Given the description of an element on the screen output the (x, y) to click on. 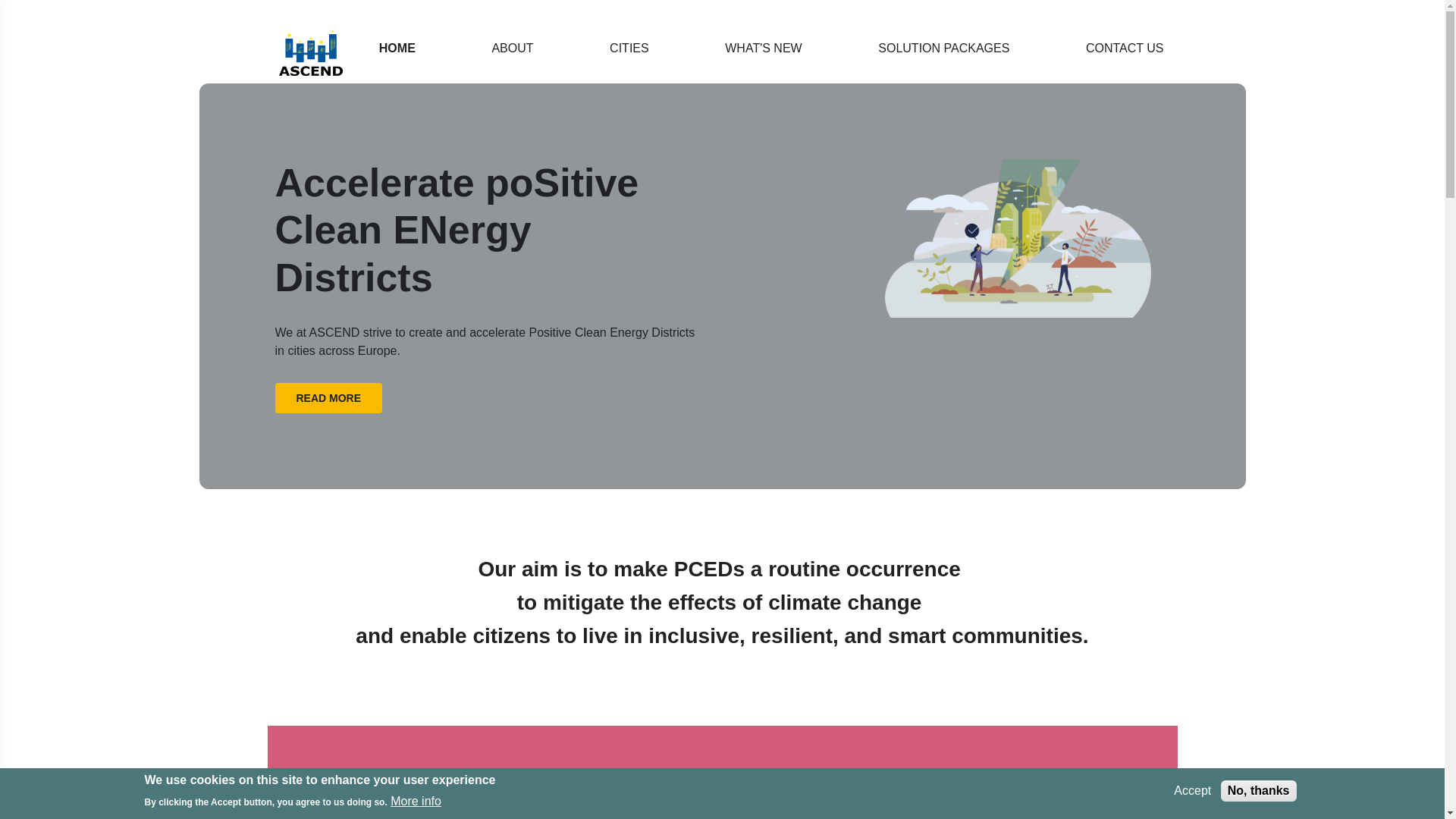
HOME (397, 48)
CONTACT US (1122, 48)
WHAT'S NEW (762, 48)
ABOUT (512, 48)
SOLUTION PACKAGES (944, 48)
CITIES (628, 48)
